Given the description of an element on the screen output the (x, y) to click on. 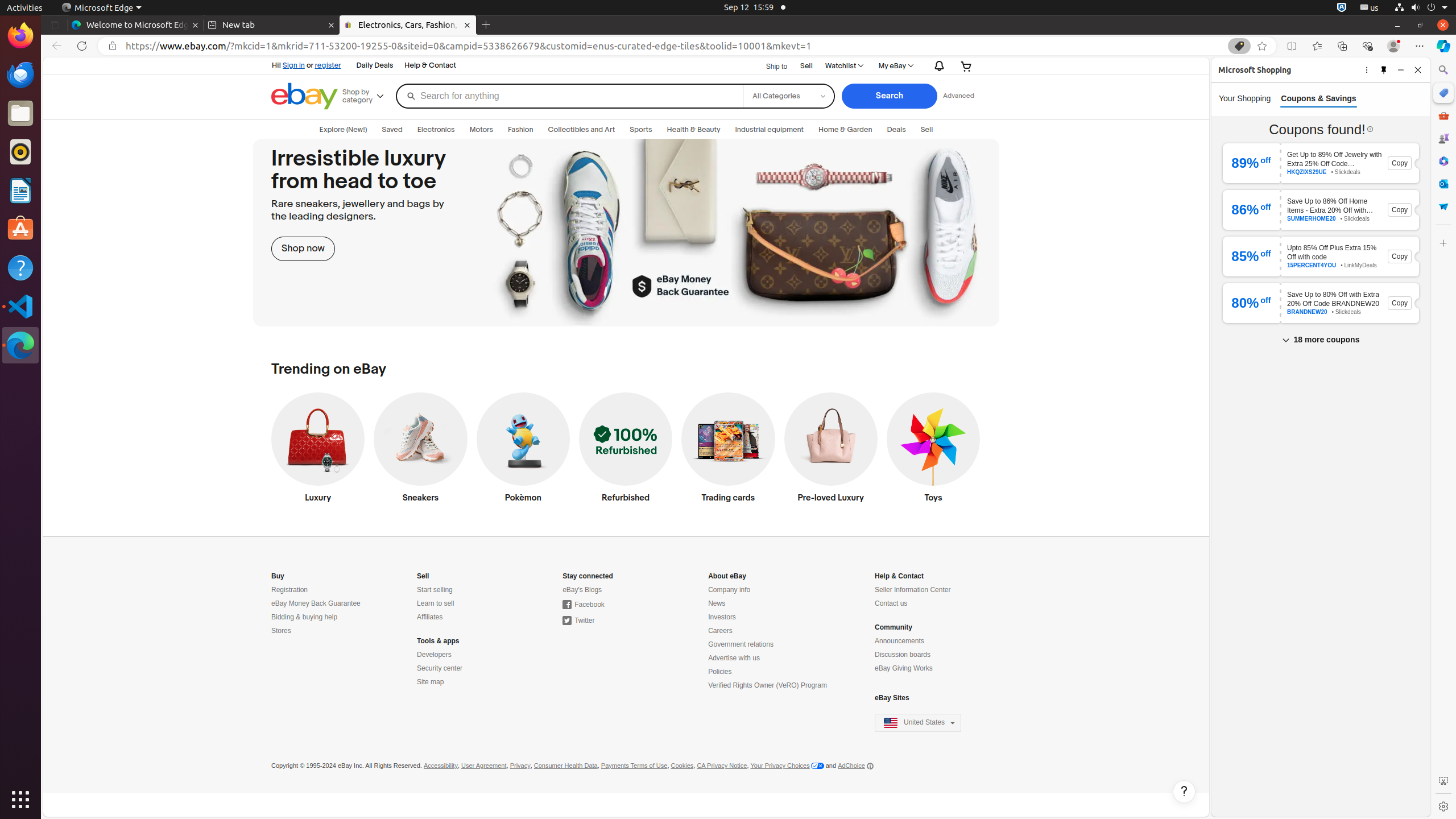
Developers Element type: link (433, 654)
Rhythmbox Element type: push-button (20, 151)
eBay sites,United States Element type: push-button (917, 722)
Coupons & Savings Element type: page-tab (1318, 98)
:1.72/StatusNotifierItem Element type: menu (1341, 7)
